Given the description of an element on the screen output the (x, y) to click on. 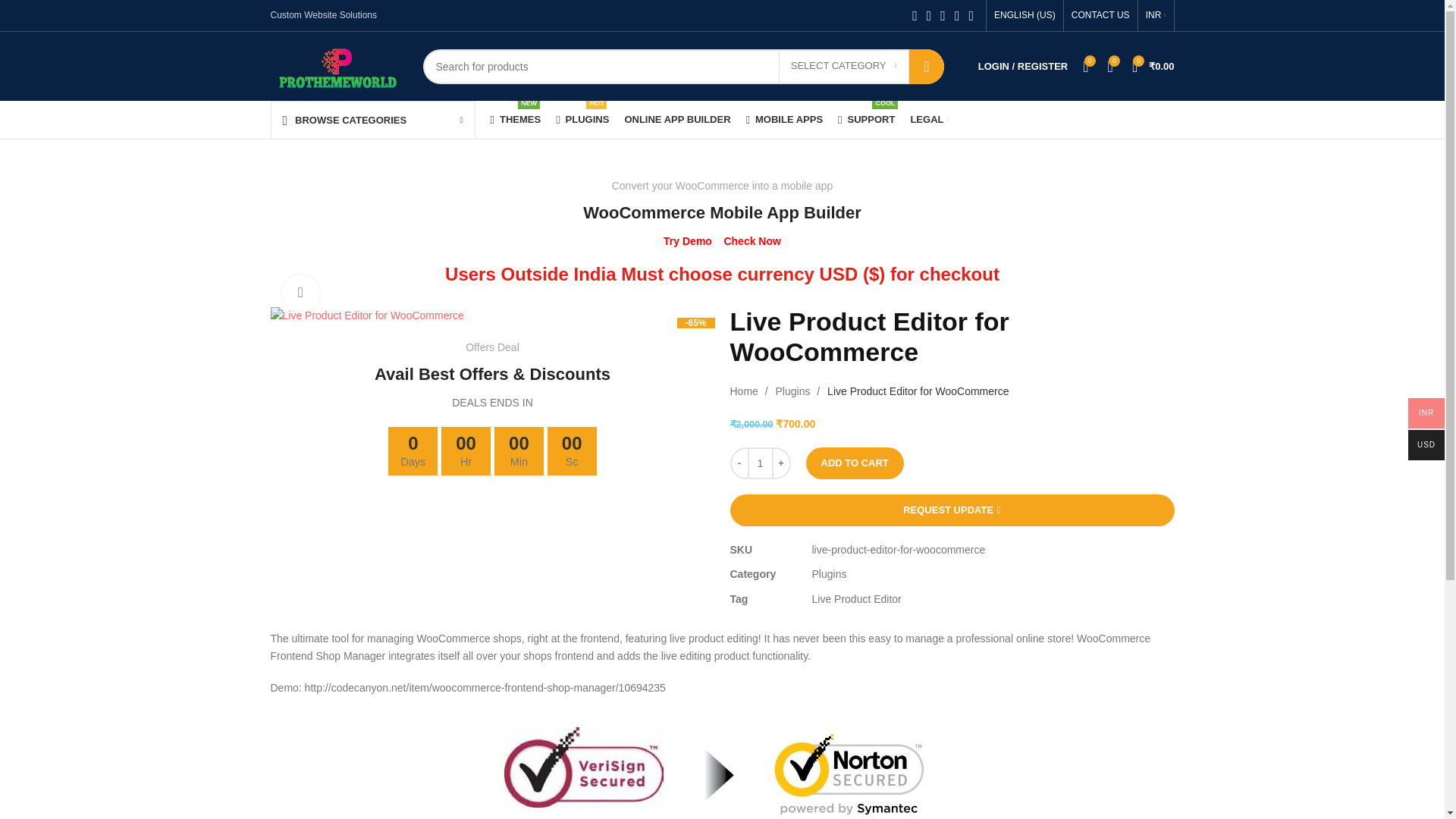
CONTACT US (1100, 15)
Live Product Editor for WooCommerce (366, 315)
0 (1085, 66)
INR (1155, 15)
SEARCH (925, 65)
My account (1023, 66)
0 (1110, 66)
1 (760, 463)
Shopping cart (1153, 66)
ONLINE APP BUILDER (677, 119)
SELECT CATEGORY (843, 65)
My Wishlist (1085, 66)
SELECT CATEGORY (866, 119)
